Given the description of an element on the screen output the (x, y) to click on. 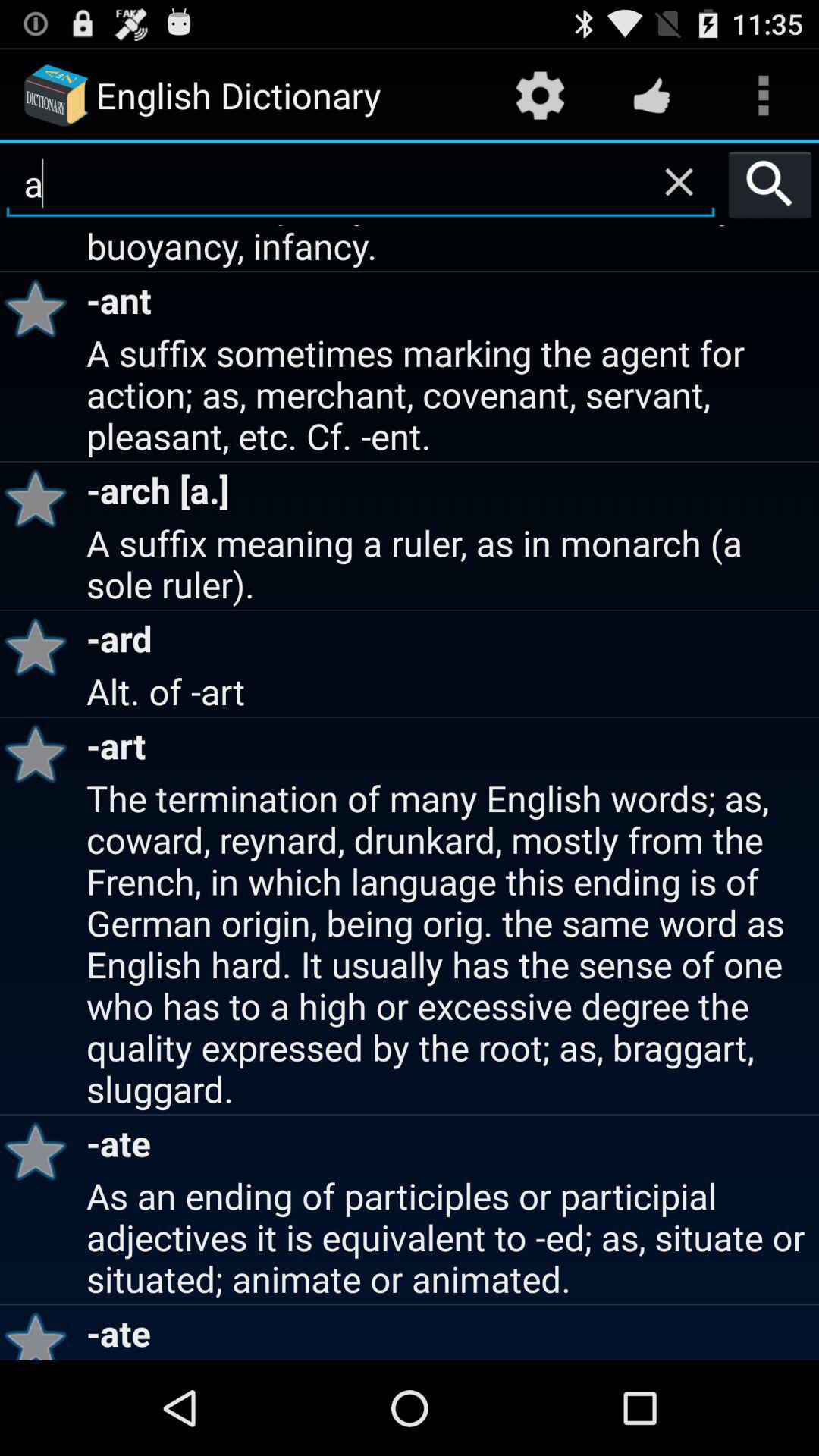
turn on icon below as an ending item (41, 1332)
